Given the description of an element on the screen output the (x, y) to click on. 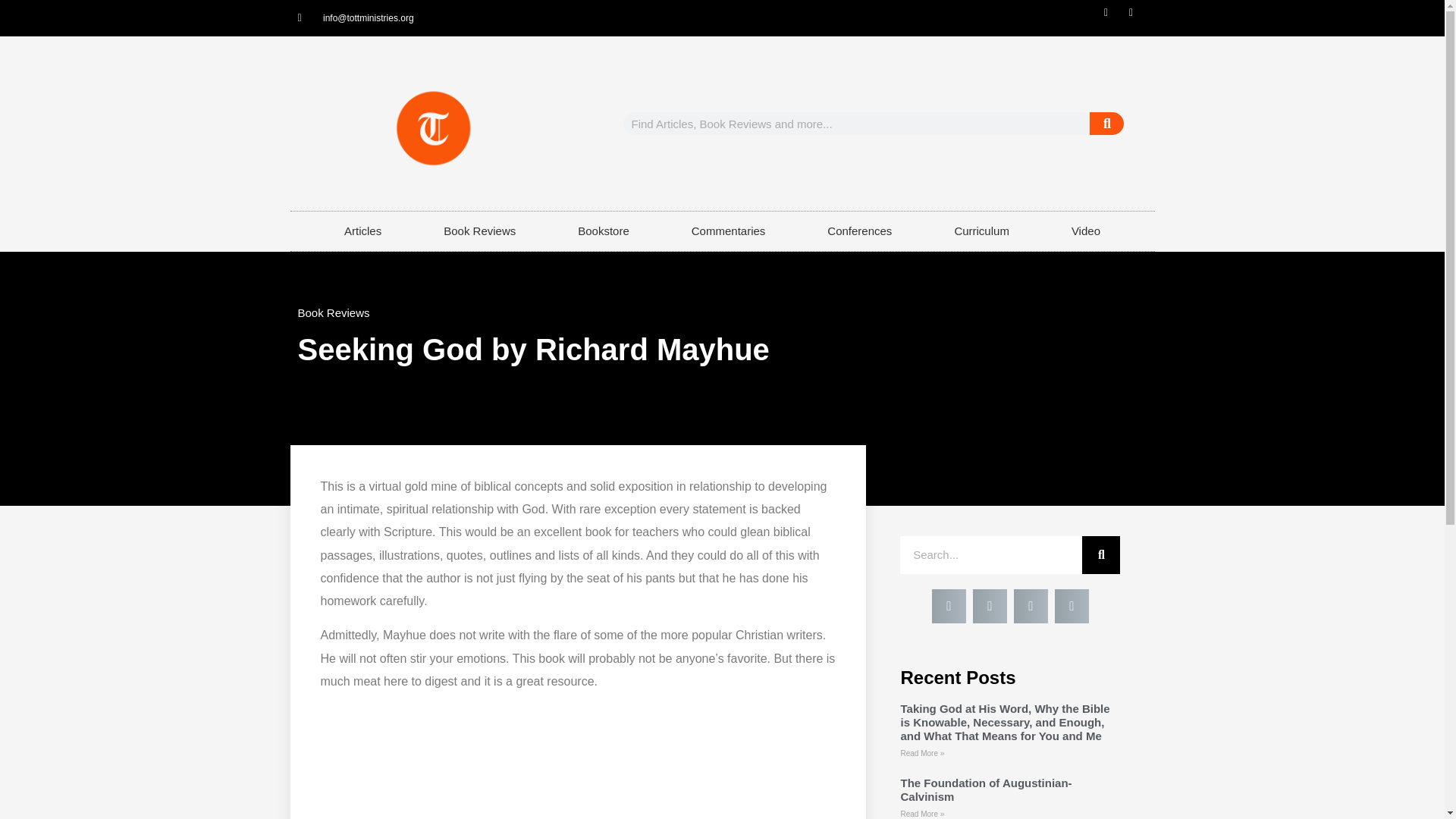
Book Reviews (479, 230)
Bookstore (604, 230)
Commentaries (728, 230)
Book Reviews (333, 312)
Articles (362, 230)
Conferences (859, 230)
Curriculum (982, 230)
The Foundation of Augustinian-Calvinism (985, 789)
Video (1086, 230)
